Given the description of an element on the screen output the (x, y) to click on. 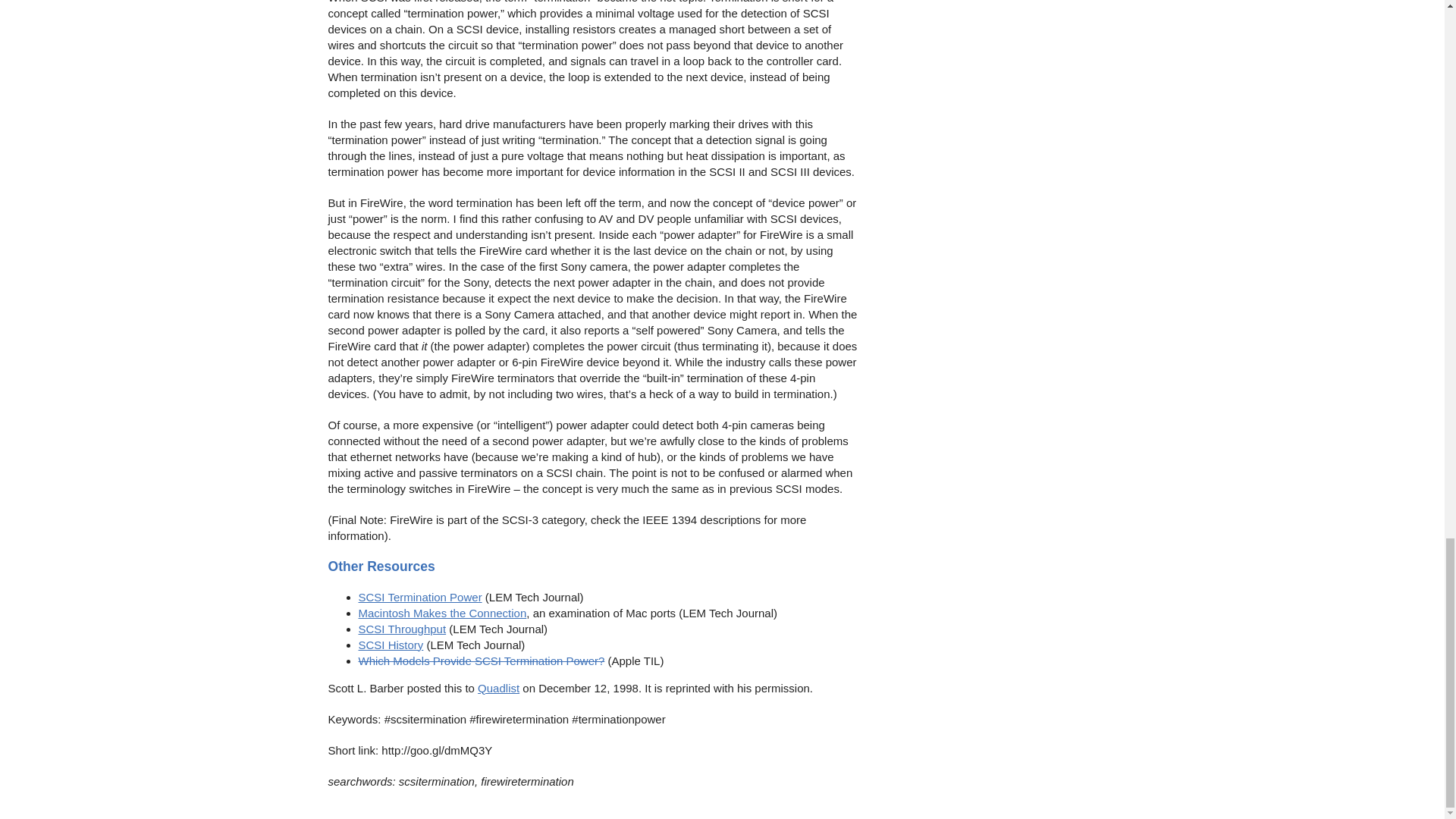
Quadlist (498, 687)
Which Models Provide SCSI Termination Power? (481, 660)
SCSI Termination Power (419, 596)
Macintosh Makes the Connection (441, 612)
SCSI Termination Power (419, 596)
SCSI History (390, 644)
SCSI Throughput (401, 628)
